Given the description of an element on the screen output the (x, y) to click on. 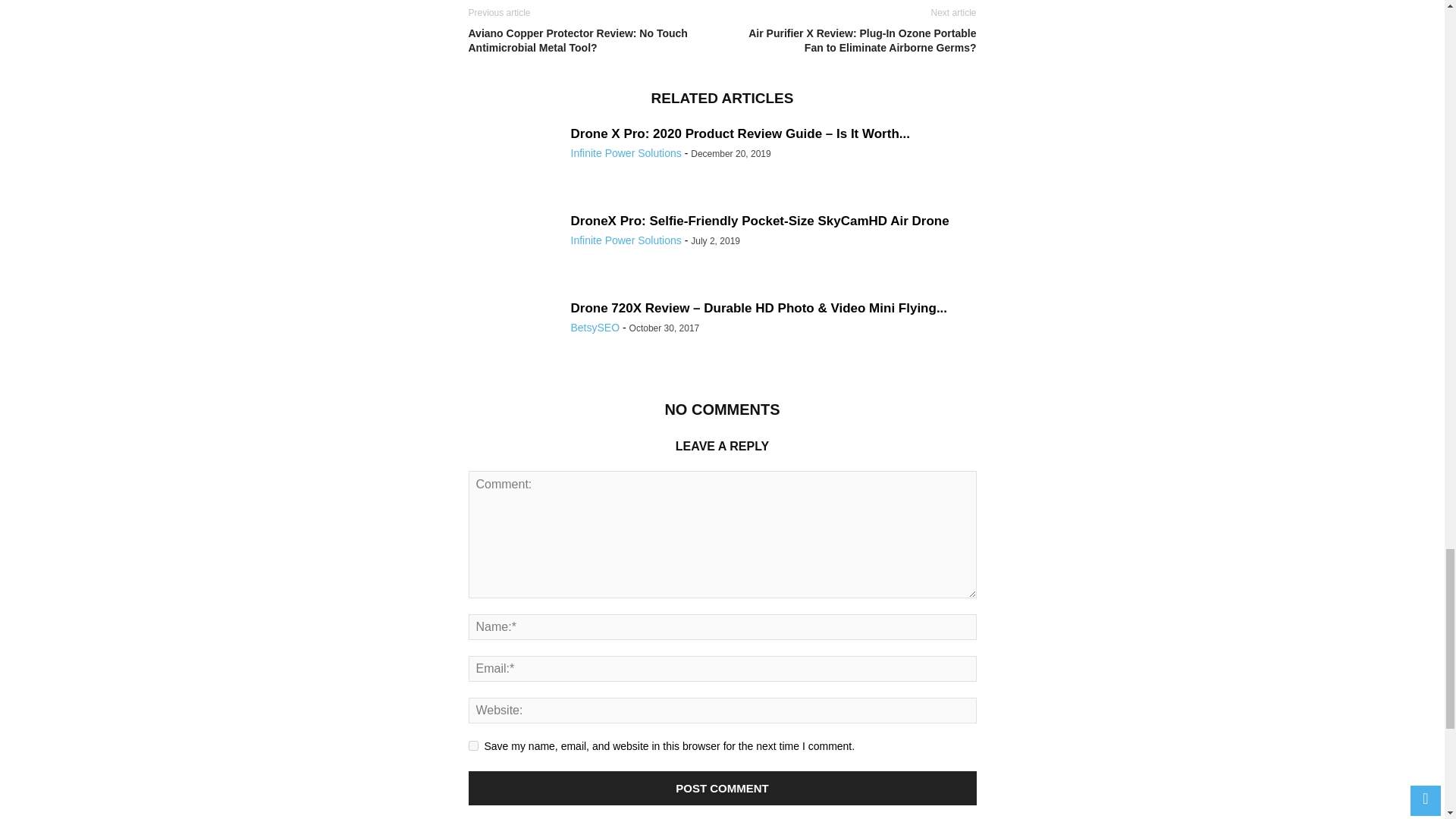
Infinite Power Solutions (625, 152)
Post Comment (722, 788)
DroneX Pro: Selfie-Friendly Pocket-Size SkyCamHD Air Drone (513, 247)
Infinite Power Solutions (625, 240)
Post Comment (722, 788)
DroneX Pro: Selfie-Friendly Pocket-Size SkyCamHD Air Drone (759, 220)
BetsySEO (595, 327)
DroneX Pro: Selfie-Friendly Pocket-Size SkyCamHD Air Drone (759, 220)
yes (473, 746)
